Given the description of an element on the screen output the (x, y) to click on. 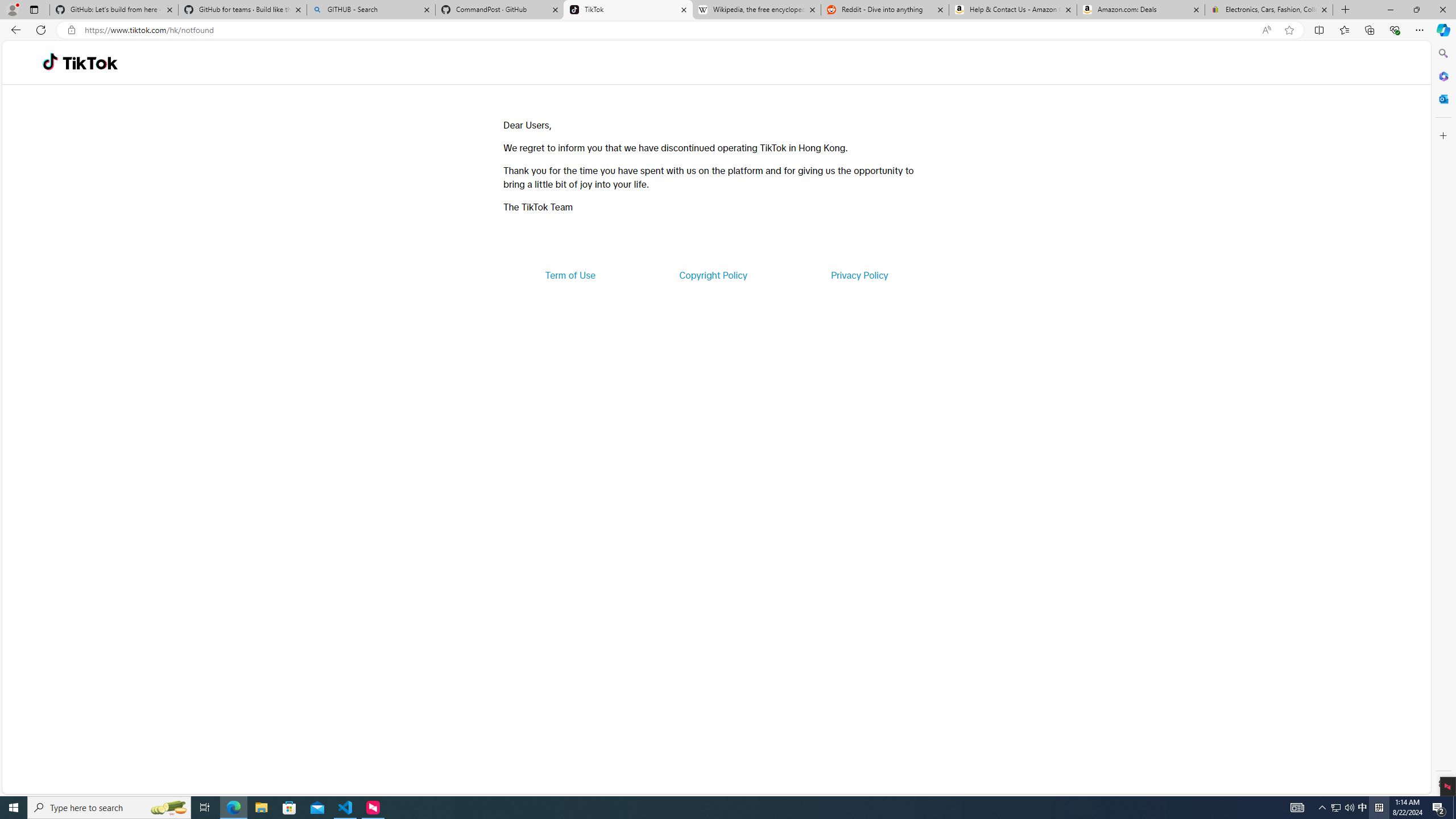
Term of Use (569, 274)
GITHUB - Search (370, 9)
